Given the description of an element on the screen output the (x, y) to click on. 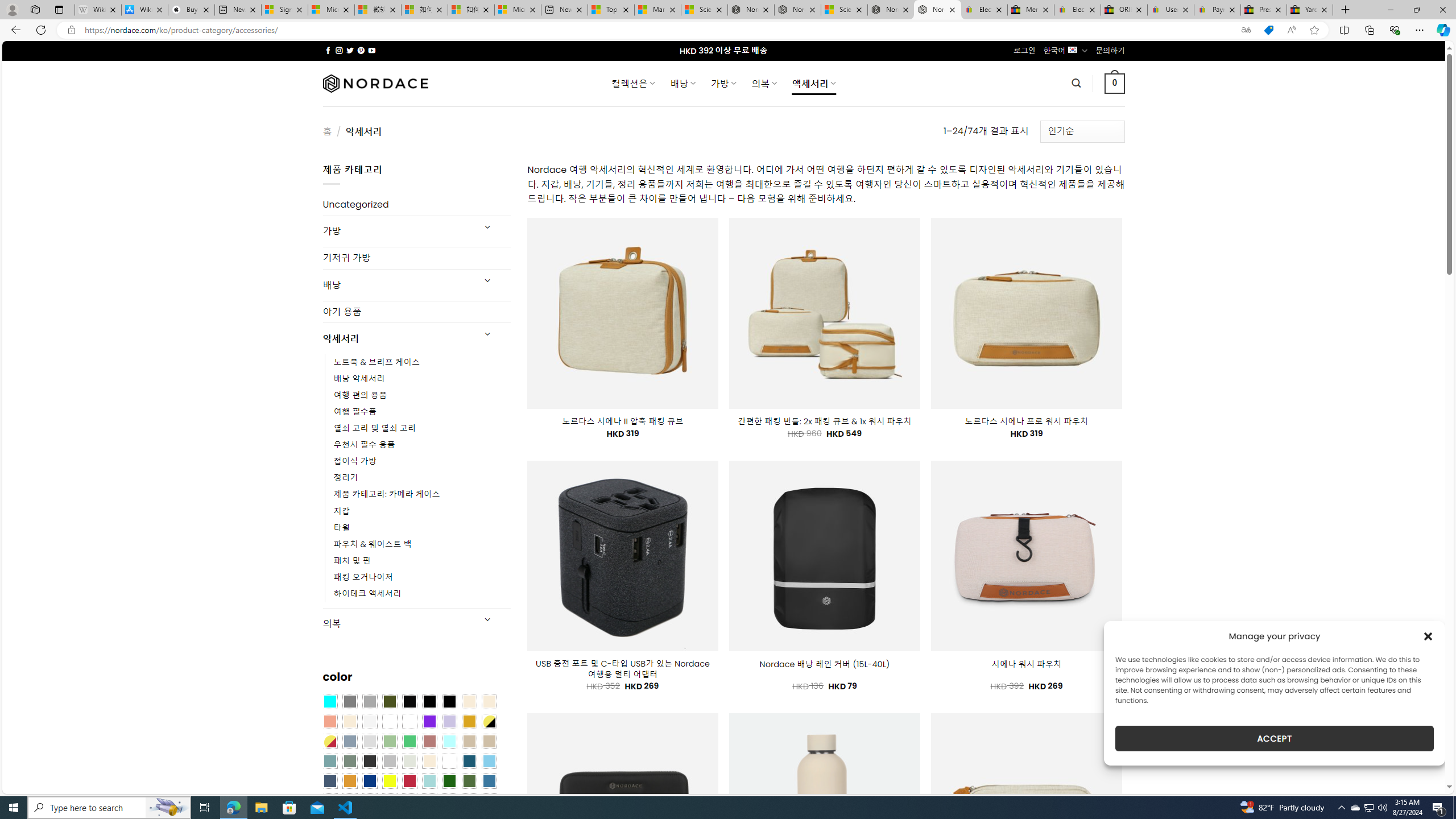
Kelp (408, 721)
